Given the description of an element on the screen output the (x, y) to click on. 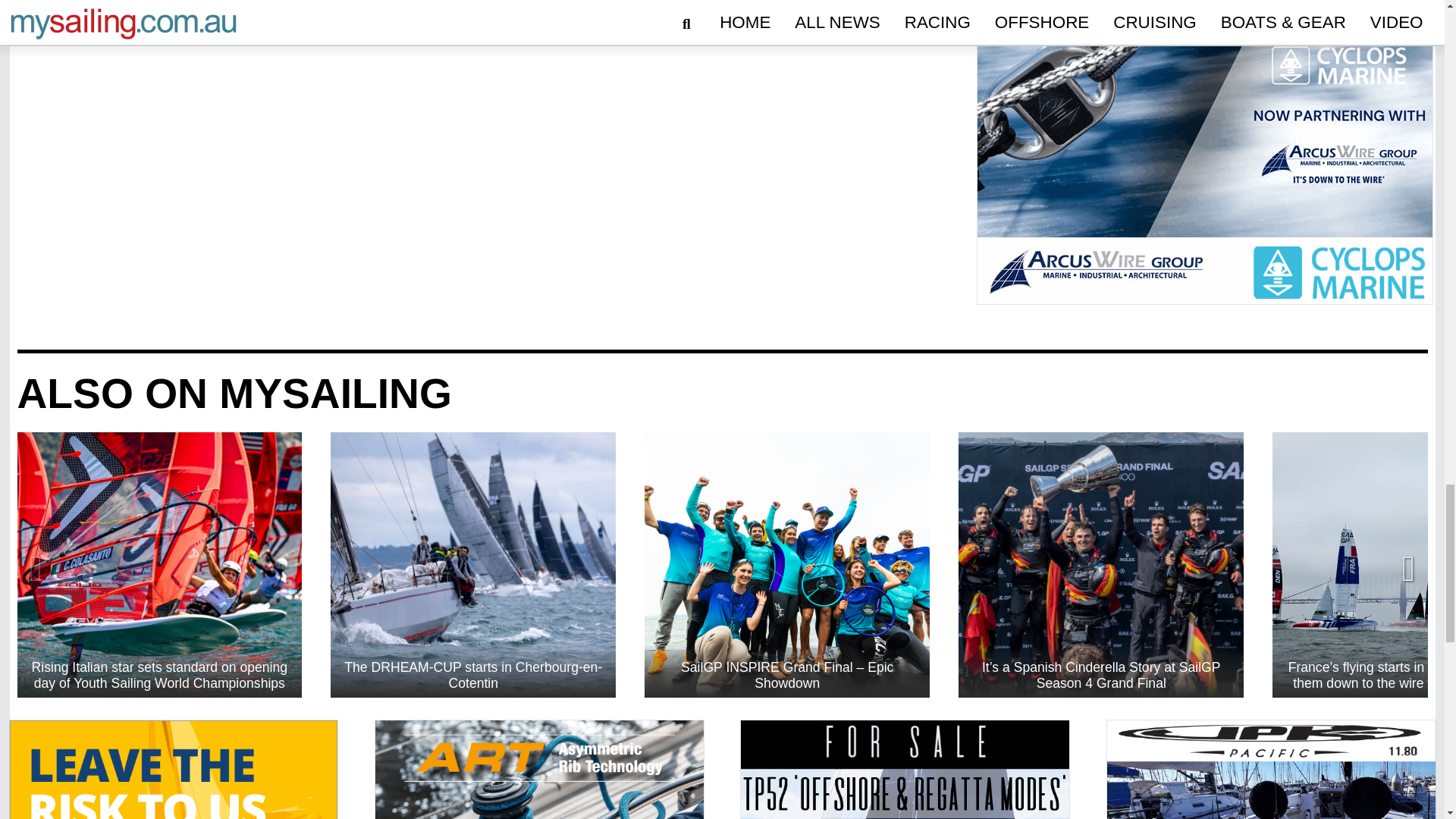
The DRHEAM-CUP starts in Cherbourg-en-Cotentin (472, 564)
